Given the description of an element on the screen output the (x, y) to click on. 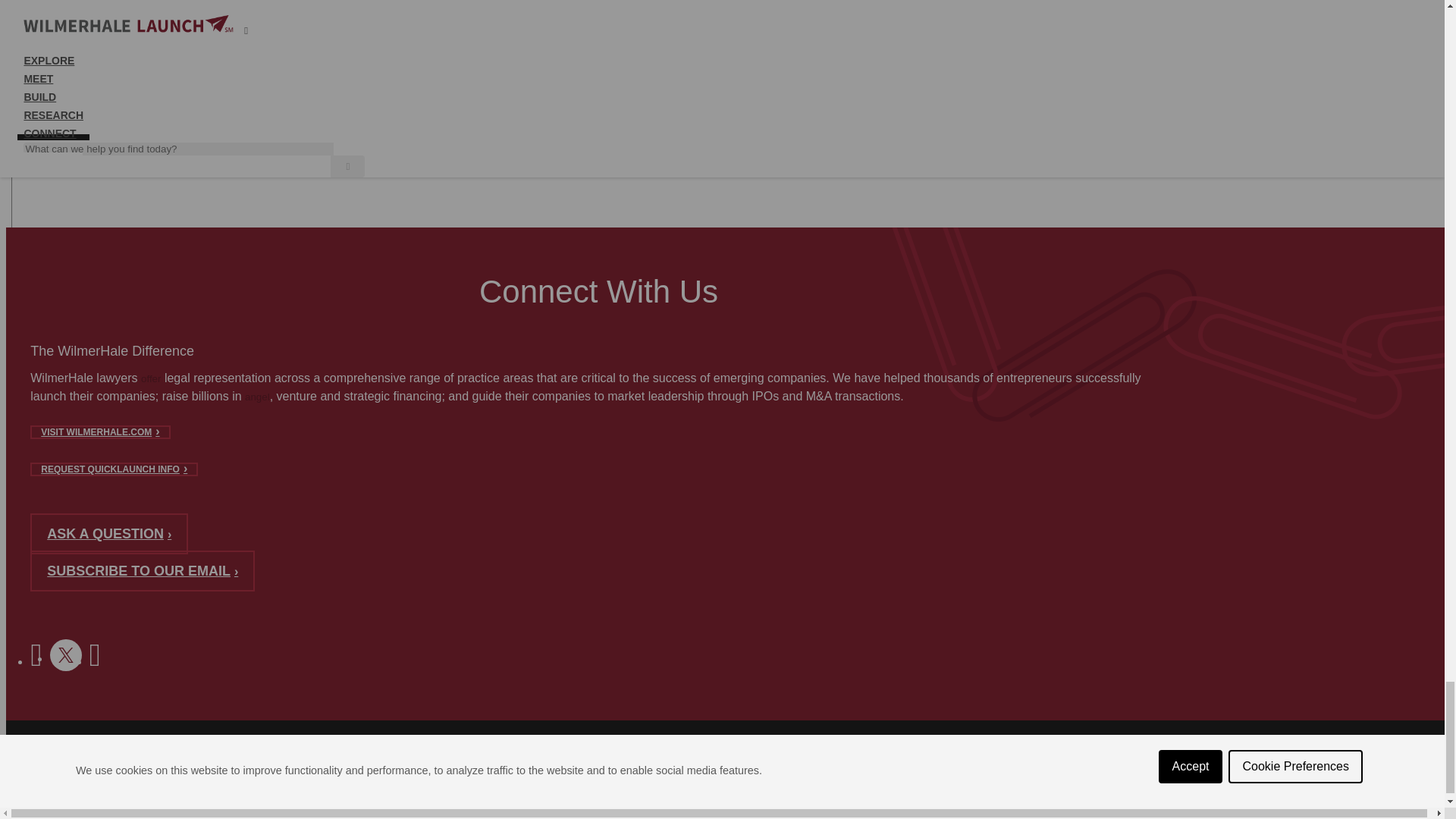
Request QuickLaunch Info (114, 468)
